Given the description of an element on the screen output the (x, y) to click on. 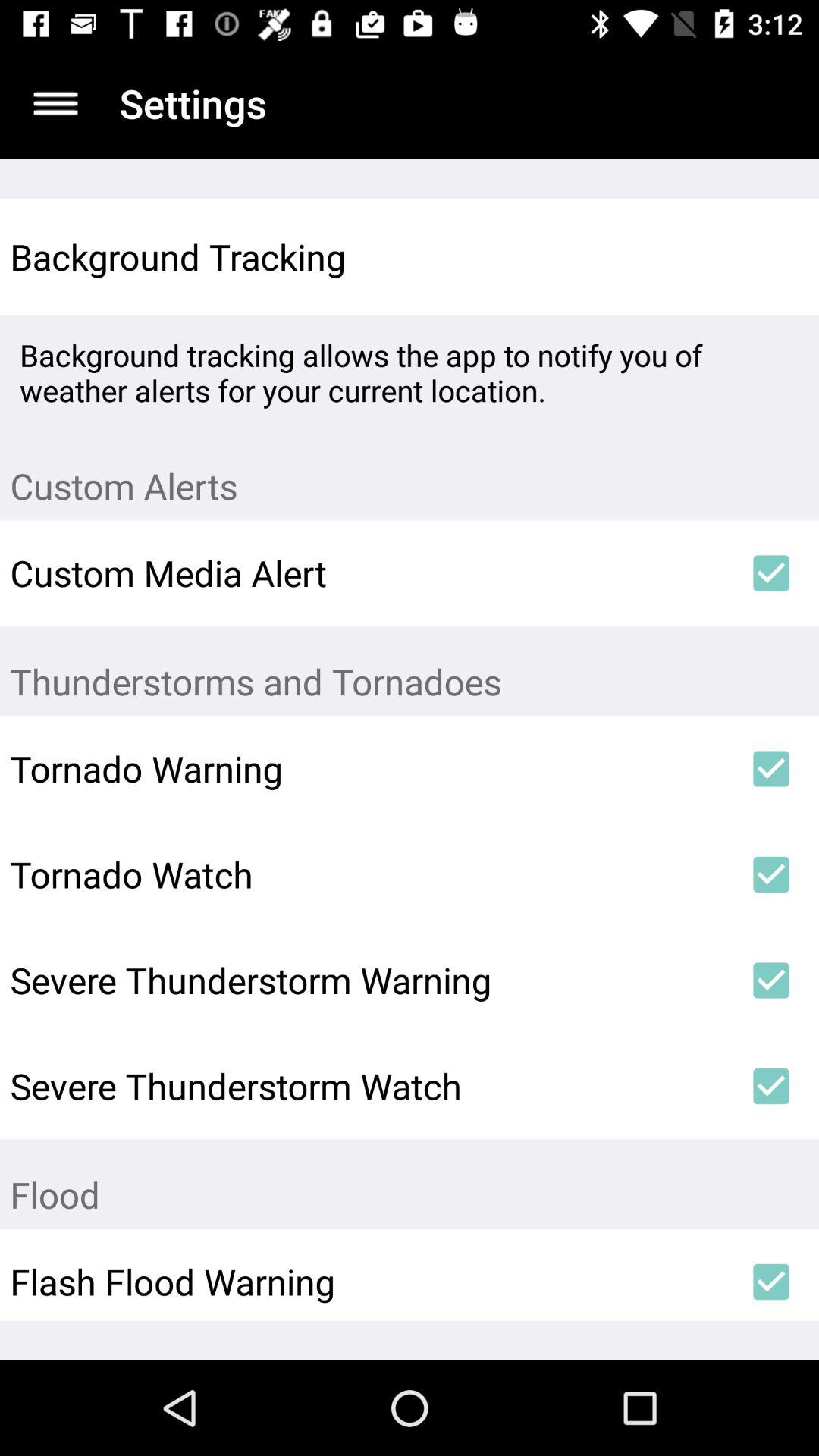
open the item next to tornado warning (771, 768)
